Given the description of an element on the screen output the (x, y) to click on. 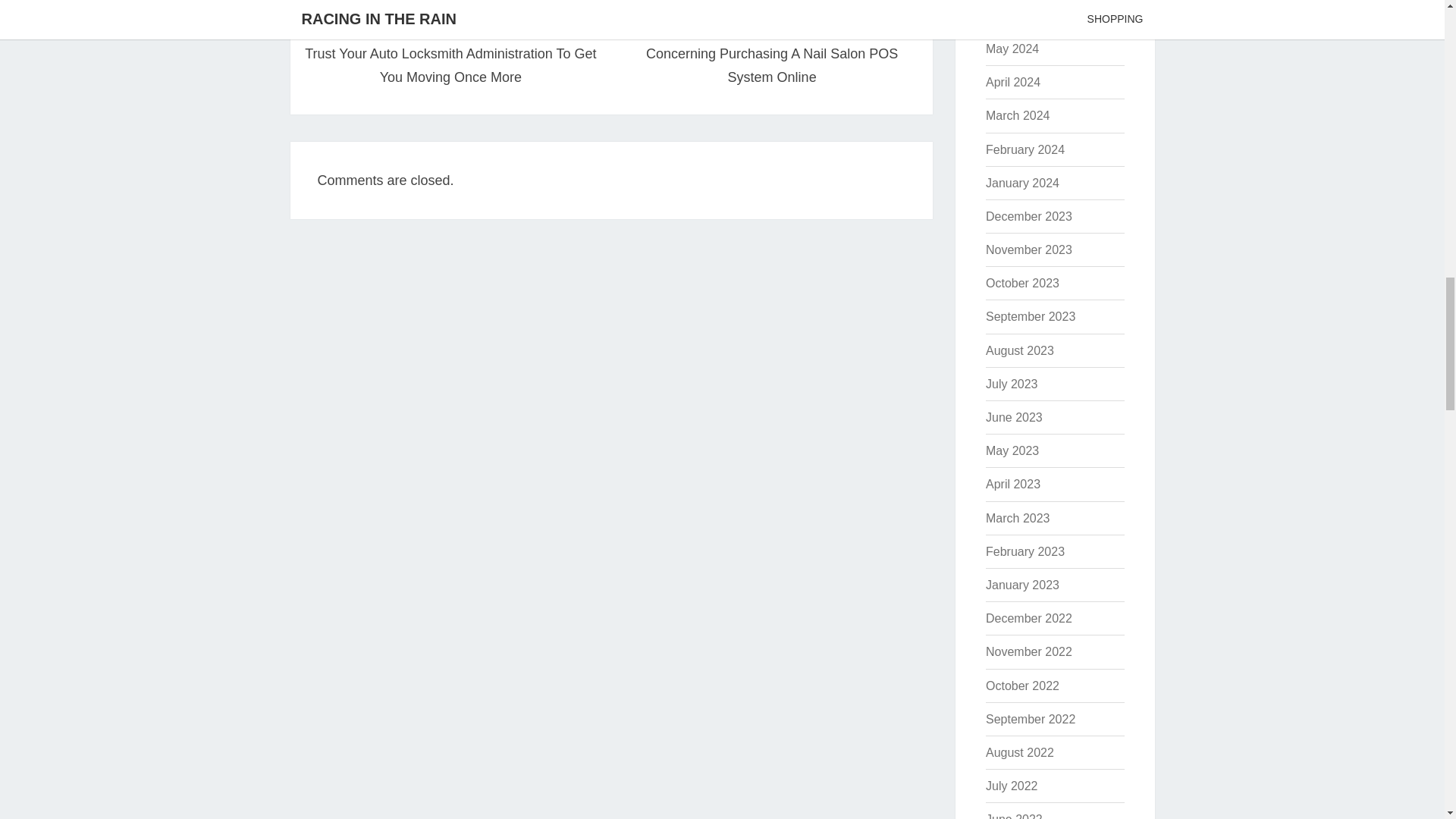
April 2024 (1013, 82)
June 2024 (1013, 15)
February 2023 (1024, 551)
November 2023 (1028, 249)
February 2024 (1024, 149)
June 2023 (1013, 417)
December 2023 (1028, 215)
August 2023 (1019, 350)
March 2023 (1017, 517)
November 2022 (1028, 651)
